Given the description of an element on the screen output the (x, y) to click on. 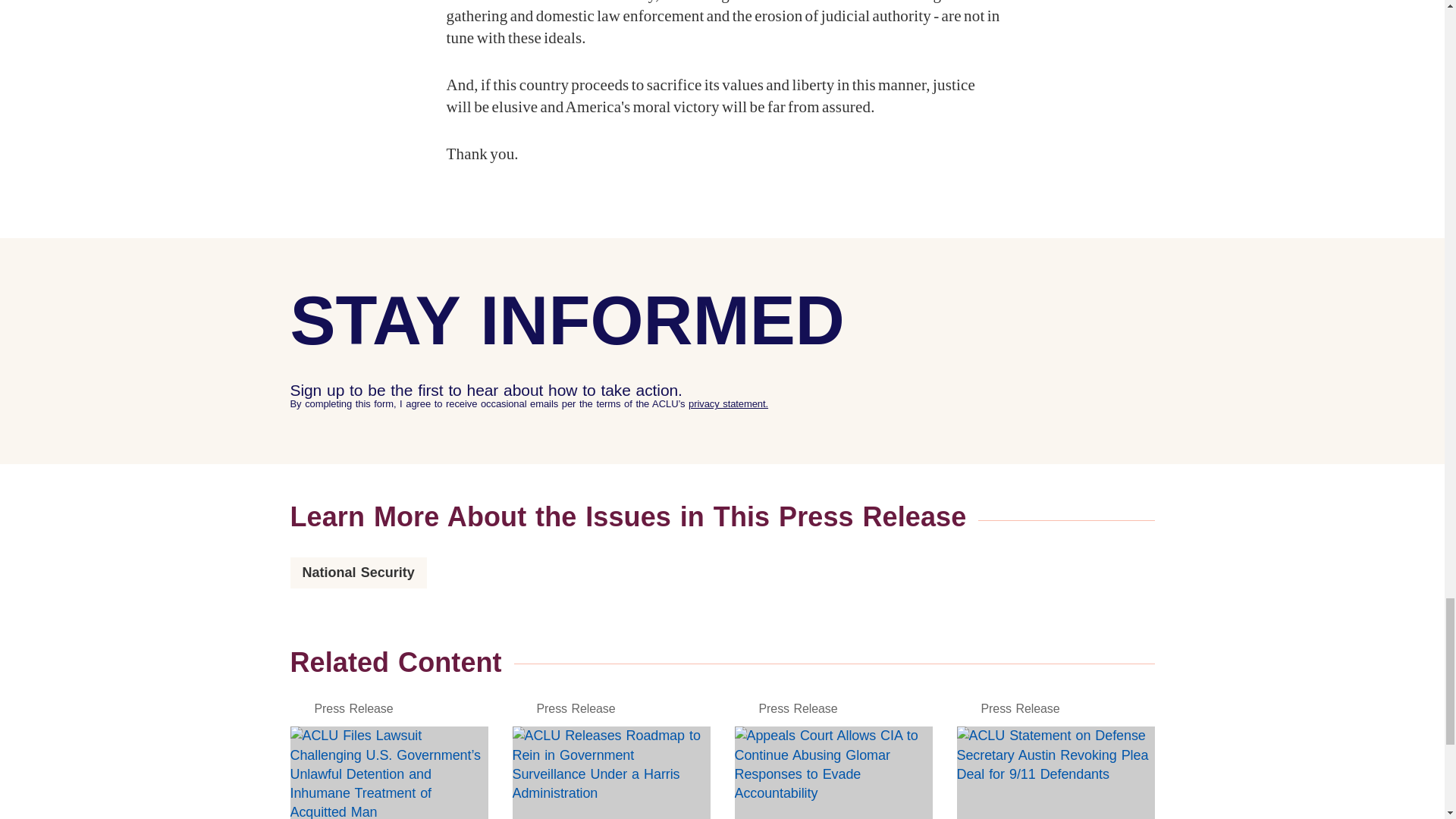
National Security (357, 572)
privacy statement. (728, 403)
